Given the description of an element on the screen output the (x, y) to click on. 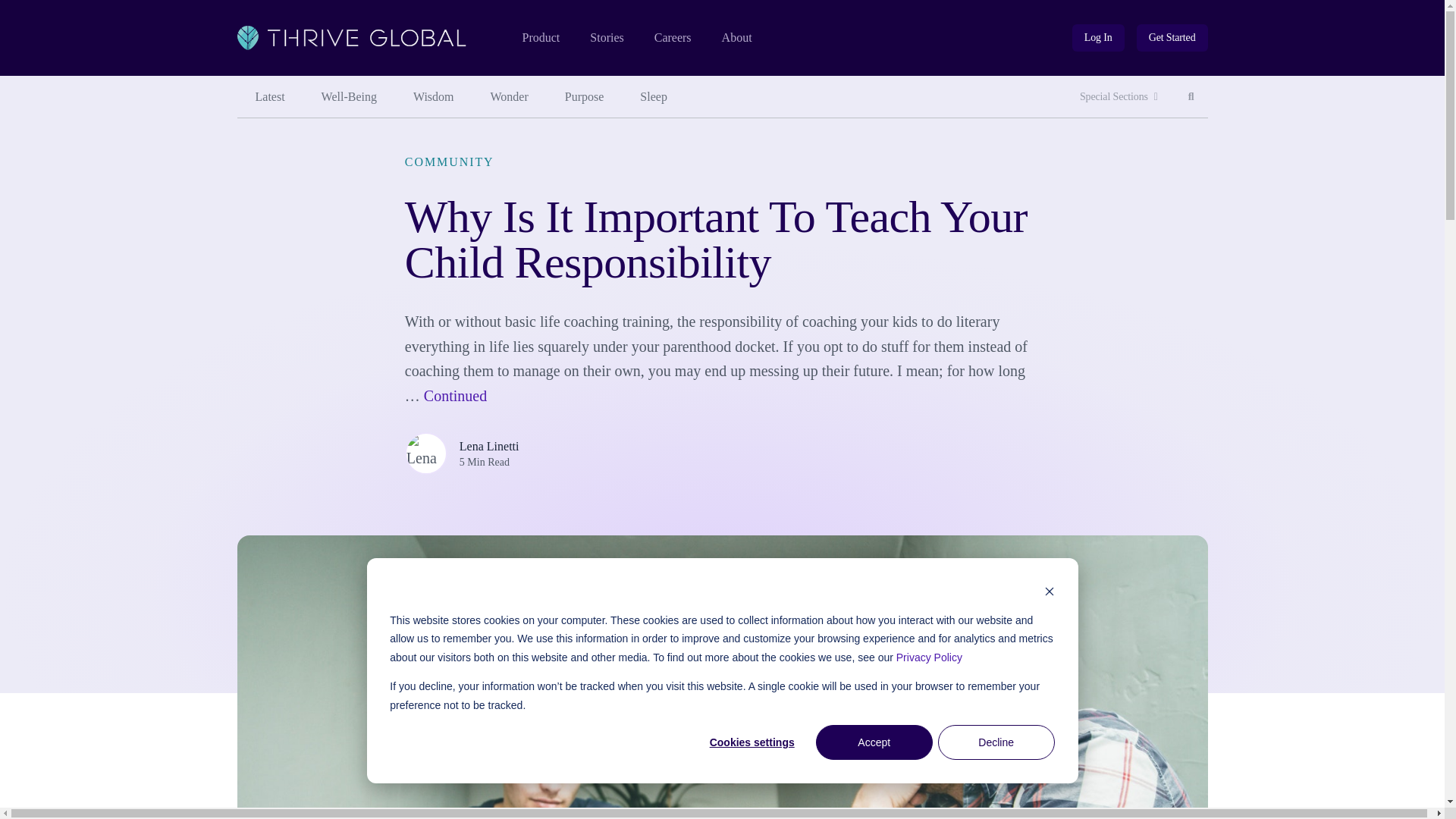
Stories (606, 37)
btn-info (1097, 37)
Product (540, 37)
Sleep (653, 96)
Well-Being (348, 96)
Latest (268, 96)
About (1191, 97)
btn-primary (737, 37)
Log In (1172, 37)
Careers (1097, 37)
Purpose (672, 37)
Wonder (585, 96)
Special Sections (509, 96)
Get Started (1118, 97)
